Given the description of an element on the screen output the (x, y) to click on. 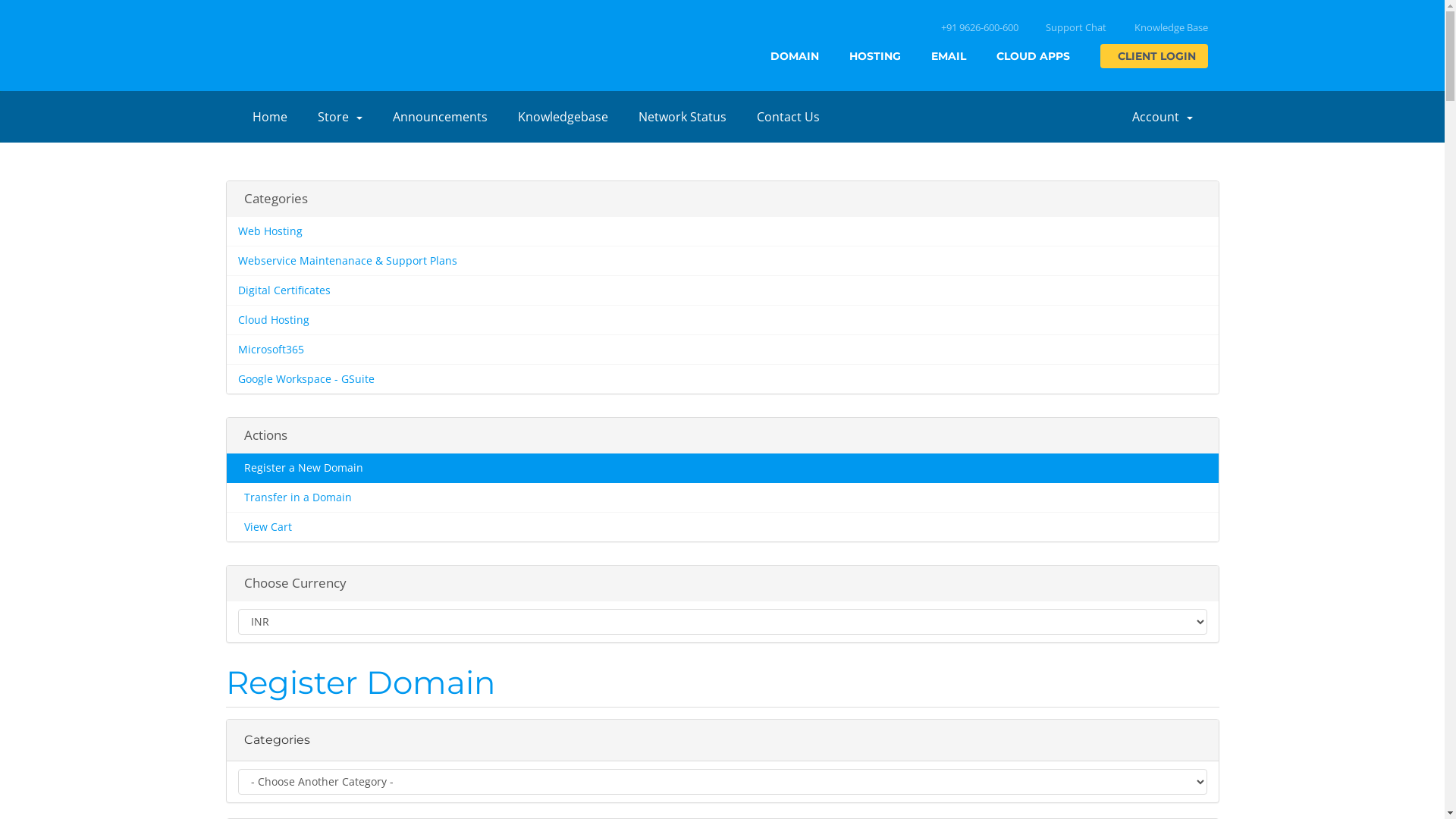
Contact Us Element type: text (787, 116)
Store   Element type: text (338, 116)
Digital Certificates Element type: text (721, 290)
Cloud Hosting Element type: text (721, 319)
EMAIL Element type: text (948, 55)
HOSTING Element type: text (874, 55)
  View Cart Element type: text (721, 526)
+91 9626-600-600 Element type: text (976, 27)
Webservice Maintenanace & Support Plans Element type: text (721, 260)
Account   Element type: text (1161, 116)
DOMAIN Element type: text (794, 55)
Microsoft365 Element type: text (721, 349)
Knowledge Base Element type: text (1168, 27)
Support Chat Element type: text (1073, 27)
  Register a New Domain Element type: text (721, 468)
Web Hosting Element type: text (721, 231)
Knowledgebase Element type: text (562, 116)
CLOUD APPS Element type: text (1033, 55)
Google Workspace - GSuite Element type: text (721, 378)
CLIENT LOGIN Element type: text (1153, 55)
Network Status Element type: text (682, 116)
  Transfer in a Domain Element type: text (721, 497)
Home Element type: text (268, 116)
Announcements Element type: text (439, 116)
